Given the description of an element on the screen output the (x, y) to click on. 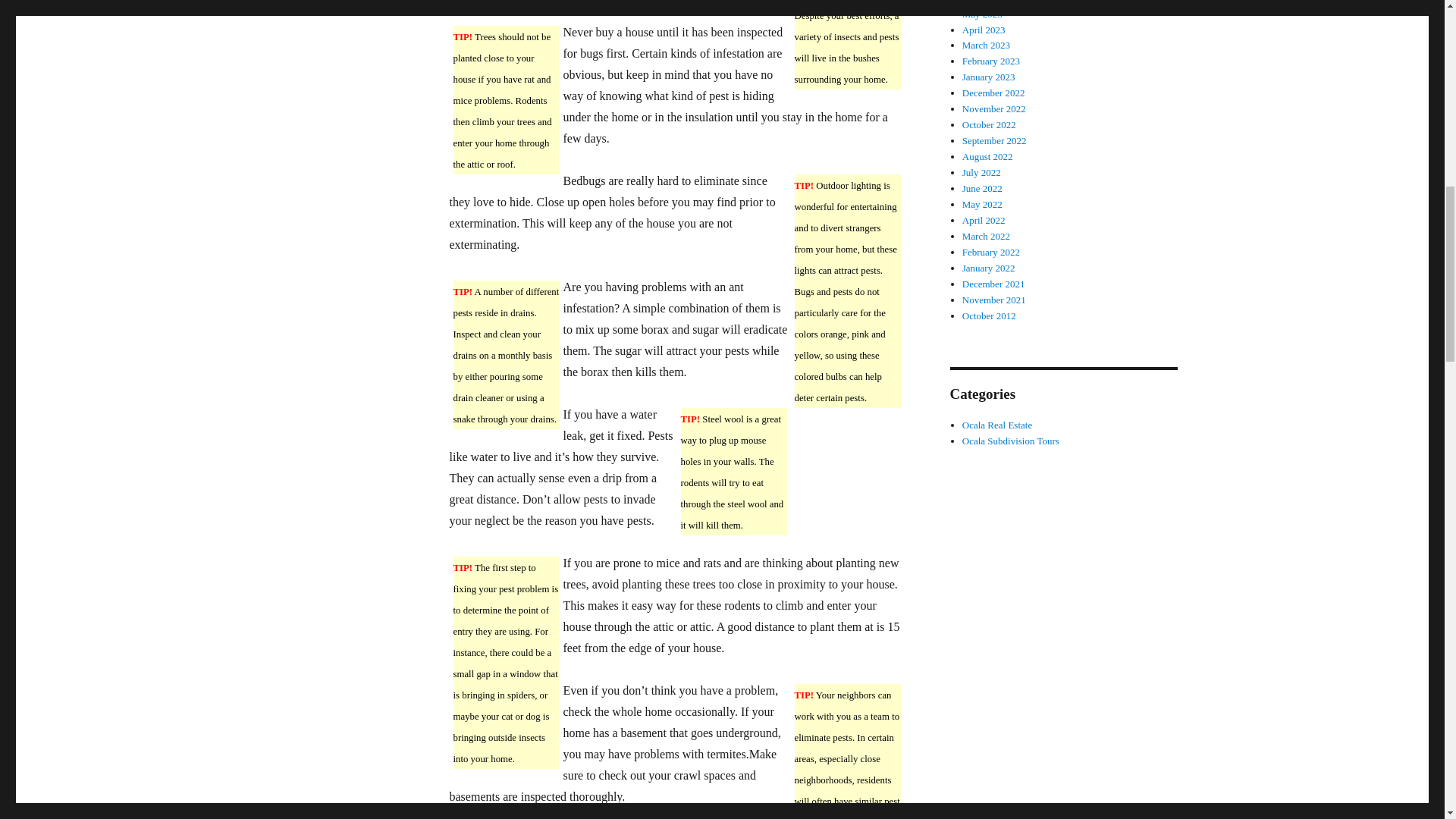
February 2023 (991, 60)
June 2022 (982, 188)
July 2022 (981, 172)
January 2023 (988, 76)
June 2023 (982, 2)
September 2022 (994, 140)
April 2023 (984, 30)
May 2023 (982, 13)
December 2022 (993, 92)
May 2022 (982, 204)
August 2022 (987, 156)
November 2022 (994, 108)
October 2022 (989, 124)
April 2022 (984, 220)
March 2023 (986, 44)
